Given the description of an element on the screen output the (x, y) to click on. 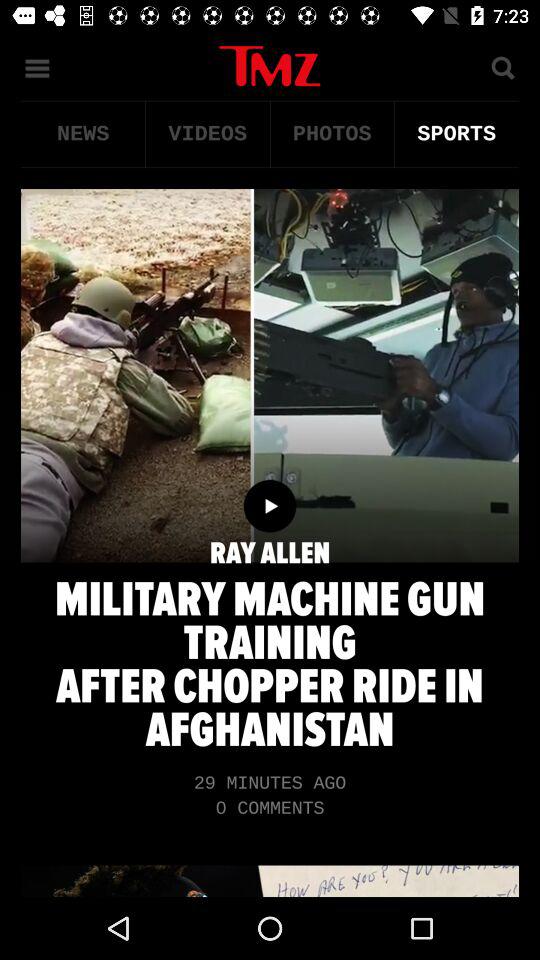
open search bar (502, 65)
